Given the description of an element on the screen output the (x, y) to click on. 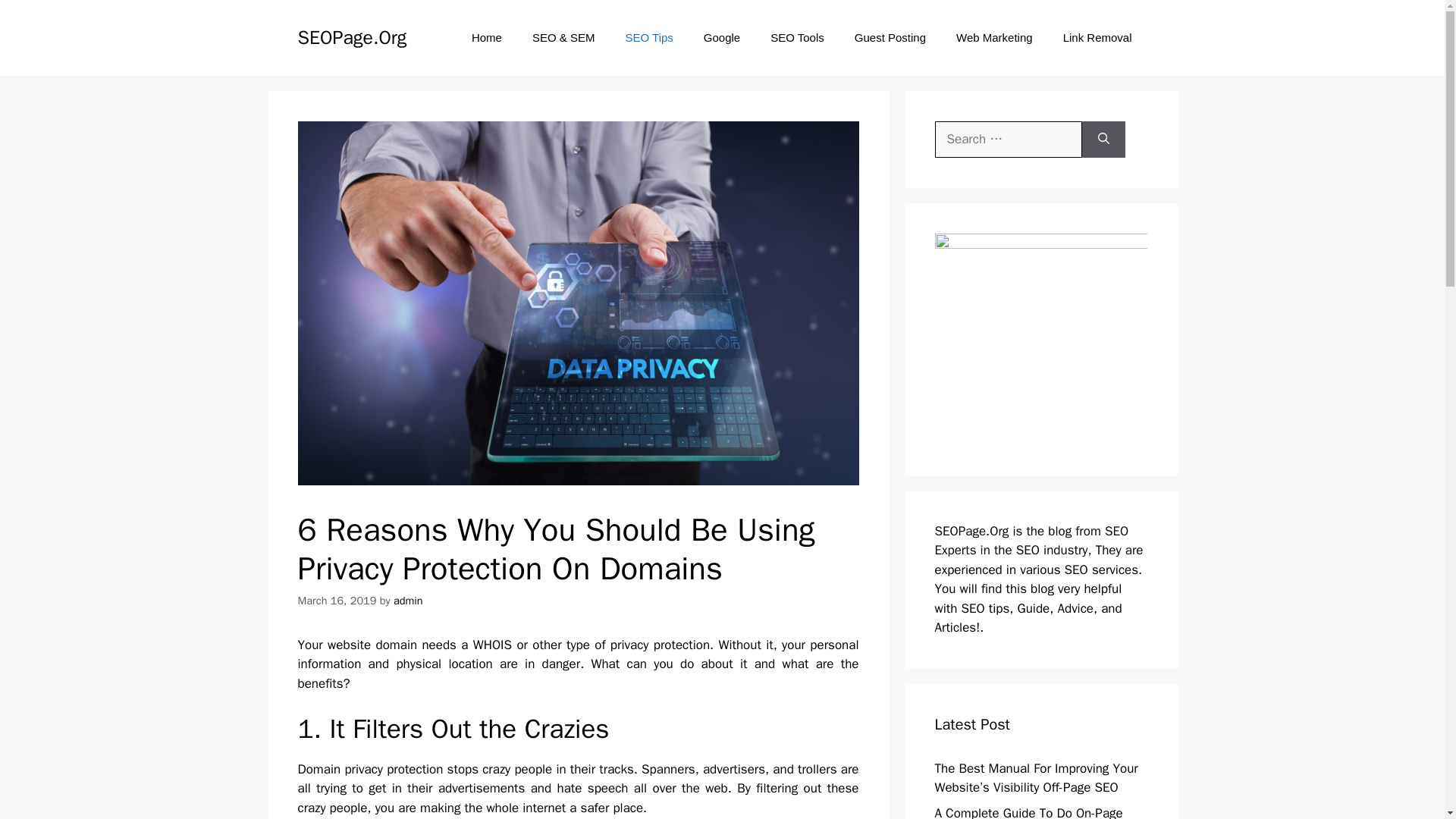
Guest Posting (890, 37)
privacy protection (392, 769)
Google (721, 37)
SEO Tips (648, 37)
SEO Tools (797, 37)
Web Marketing (994, 37)
Home (486, 37)
A Complete Guide To Do On-Page And Off-Page SEO In 2022 (1028, 812)
Search for: (1007, 139)
admin (408, 600)
